Given the description of an element on the screen output the (x, y) to click on. 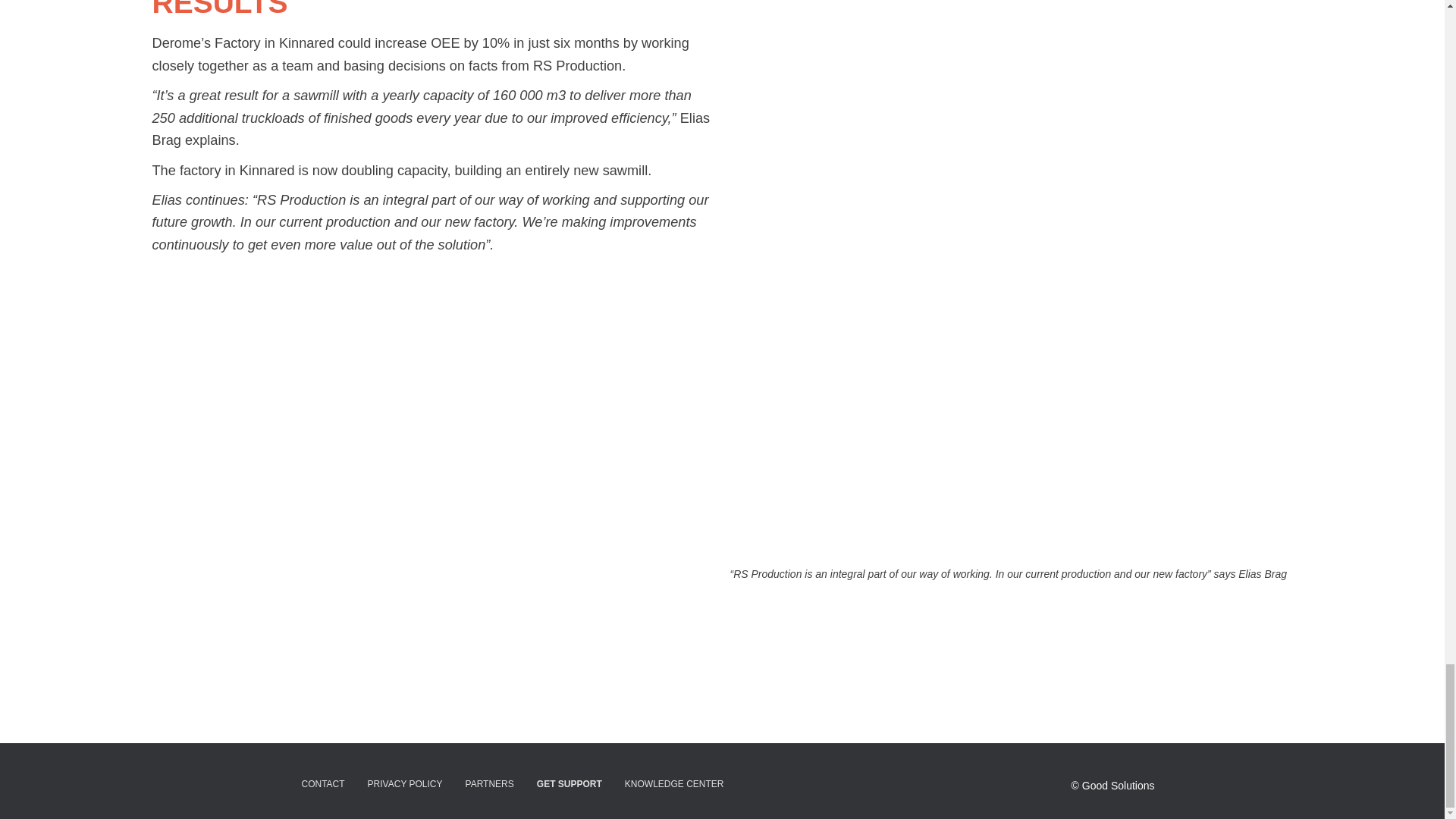
KNOWLEDGE CENTER (673, 784)
PARTNERS (489, 784)
GET SUPPORT (568, 784)
CONTACT (322, 784)
PRIVACY POLICY (405, 784)
